Given the description of an element on the screen output the (x, y) to click on. 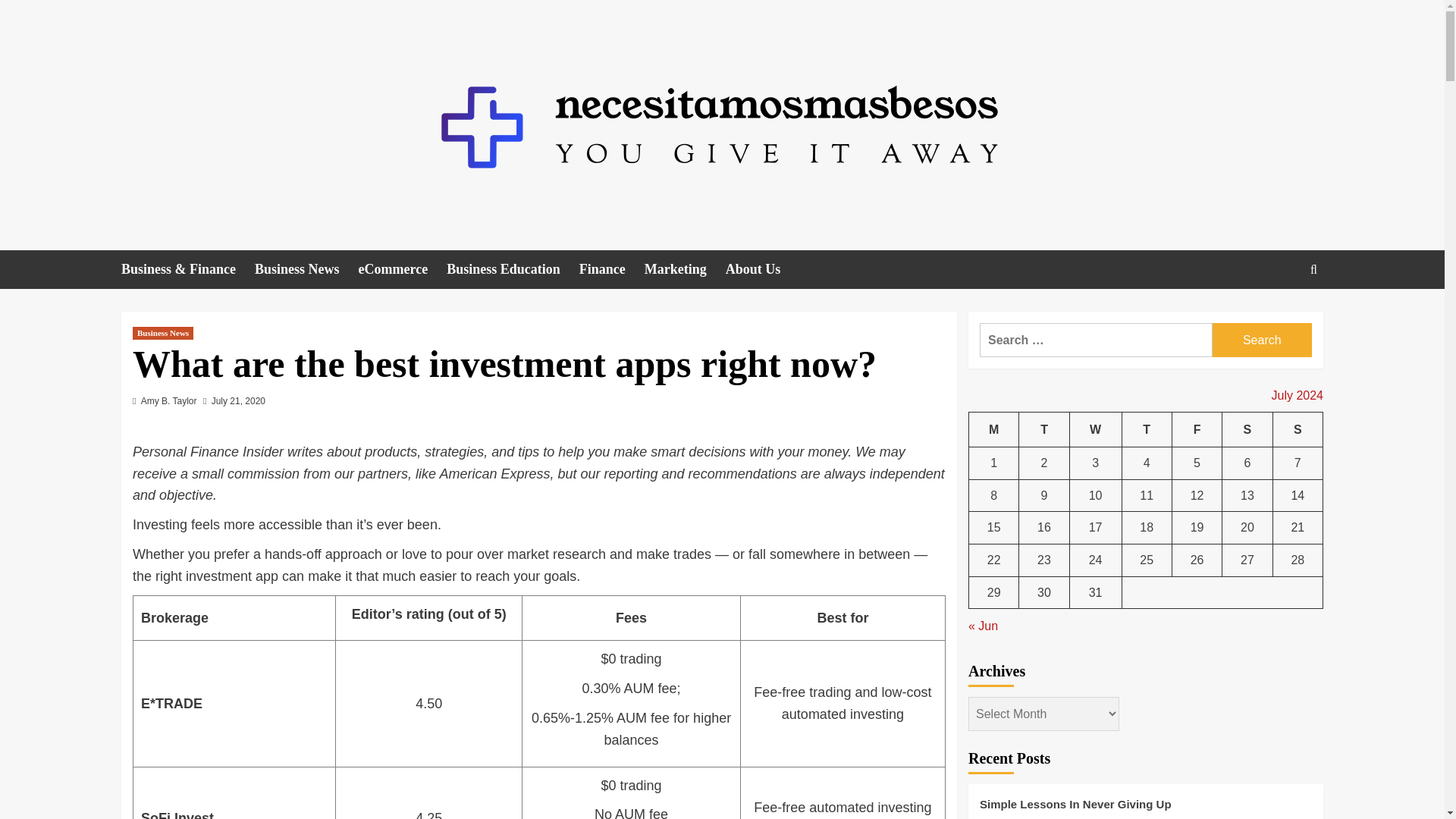
Amy B. Taylor (168, 400)
Business News (306, 269)
Business Education (512, 269)
Marketing (685, 269)
Finance (612, 269)
Business News (162, 332)
Search (1261, 339)
Search (1278, 315)
Search (1261, 339)
eCommerce (402, 269)
July 21, 2020 (237, 400)
About Us (762, 269)
